Given the description of an element on the screen output the (x, y) to click on. 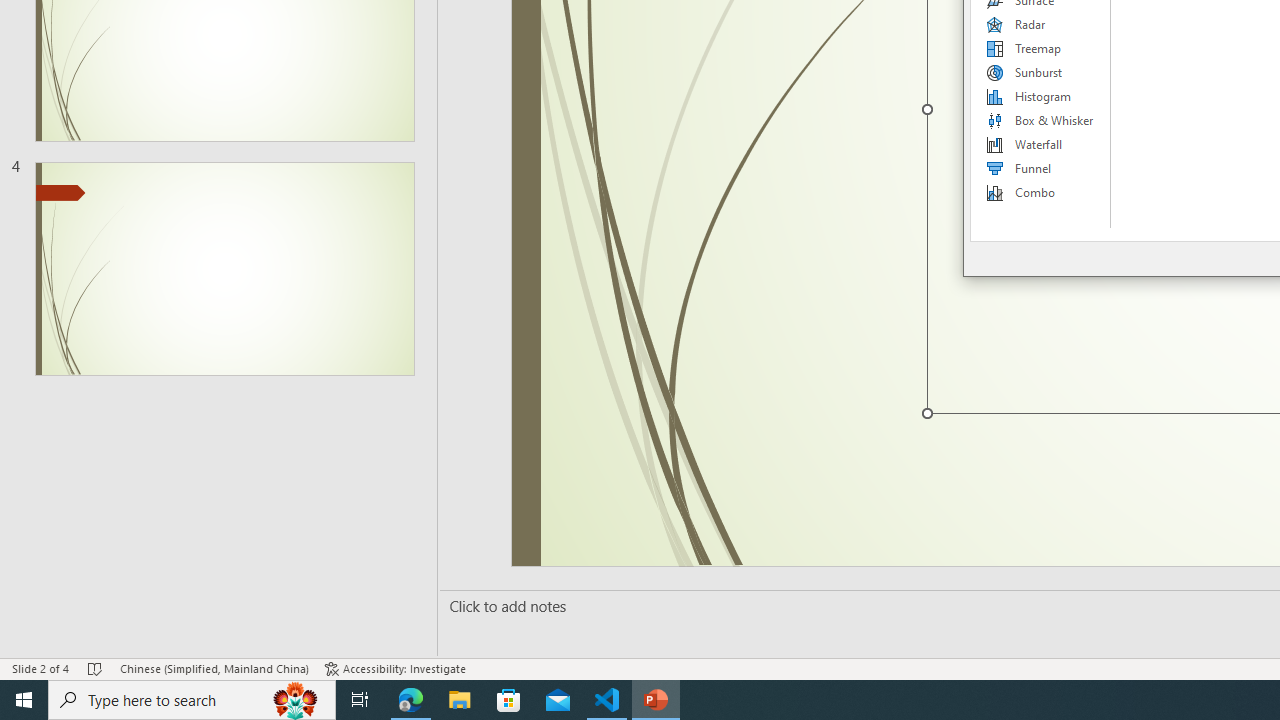
Box & Whisker (1041, 120)
Funnel (1041, 168)
